Given the description of an element on the screen output the (x, y) to click on. 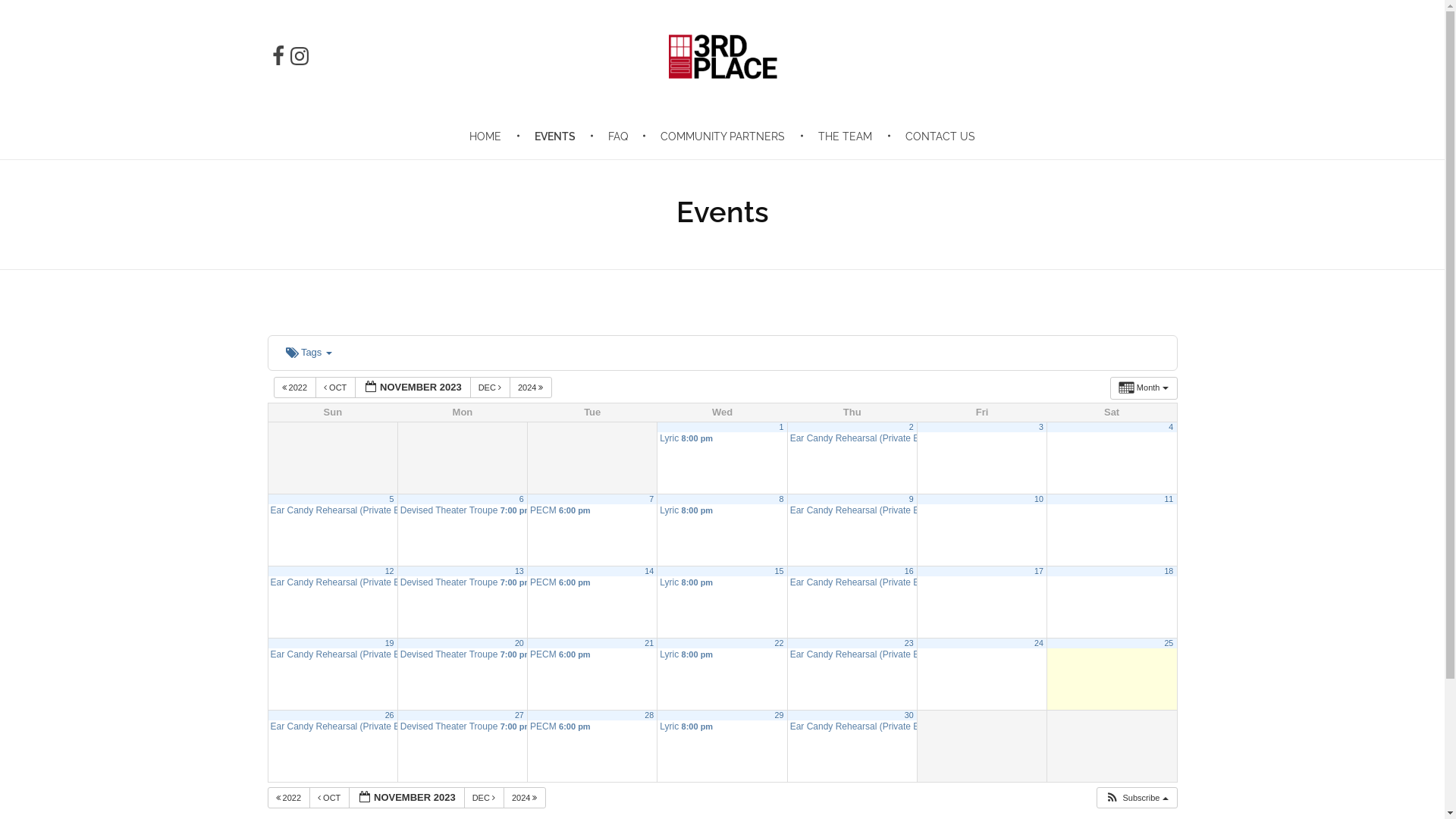
24 Element type: text (1038, 642)
PECM 6:00 pm Element type: text (591, 582)
DEC Element type: text (490, 387)
12 Element type: text (389, 570)
PECM 6:00 pm Element type: text (591, 510)
25 Element type: text (1168, 642)
Ear Candy Rehearsal (Private Event) Element type: text (332, 726)
6 Element type: text (521, 498)
Devised Theater Troupe 7:00 pm Element type: text (462, 726)
PECM 6:00 pm Element type: text (591, 726)
13 Element type: text (519, 570)
1 Element type: text (780, 426)
11 Element type: text (1168, 498)
Devised Theater Troupe 7:00 pm Element type: text (462, 582)
16 Element type: text (908, 570)
Devised Theater Troupe 7:00 pm Element type: text (462, 654)
3rd Place Element type: text (704, 112)
8 Element type: text (780, 498)
Ear Candy Rehearsal (Private Event) Element type: text (851, 726)
Lyric 8:00 pm Element type: text (721, 582)
2 Element type: text (911, 426)
Ear Candy Rehearsal (Private Event) Element type: text (332, 654)
THE TEAM Element type: text (847, 136)
10 Element type: text (1038, 498)
15 Element type: text (779, 570)
FAQ Element type: text (619, 136)
EVENTS Element type: text (556, 136)
2022 Element type: text (288, 798)
4 Element type: text (1170, 426)
29 Element type: text (779, 714)
Tags Element type: text (308, 352)
23 Element type: text (908, 642)
Ear Candy Rehearsal (Private Event) Element type: text (851, 582)
26 Element type: text (389, 714)
21 Element type: text (648, 642)
NOVEMBER 2023 Element type: text (412, 387)
30 Element type: text (908, 714)
Lyric 8:00 pm Element type: text (721, 654)
PECM 6:00 pm Element type: text (591, 654)
7 Element type: text (651, 498)
Lyric 8:00 pm Element type: text (721, 726)
27 Element type: text (519, 714)
OCT Element type: text (329, 798)
Lyric 8:00 pm Element type: text (721, 510)
Ear Candy Rehearsal (Private Event) Element type: text (332, 582)
3 Element type: text (1040, 426)
COMMUNITY PARTNERS Element type: text (725, 136)
17 Element type: text (1038, 570)
Ear Candy Rehearsal (Private Event) Element type: text (851, 654)
DEC Element type: text (484, 798)
Ear Candy Rehearsal (Private Event) Element type: text (851, 510)
18 Element type: text (1168, 570)
OCT Element type: text (335, 387)
22 Element type: text (779, 642)
Ear Candy Rehearsal (Private Event) Element type: text (851, 438)
19 Element type: text (389, 642)
2022 Element type: text (294, 387)
2024 Element type: text (524, 798)
14 Element type: text (648, 570)
Lyric 8:00 pm Element type: text (721, 438)
NOVEMBER 2023 Element type: text (406, 798)
20 Element type: text (519, 642)
Month Element type: text (1143, 387)
2024 Element type: text (530, 387)
9 Element type: text (911, 498)
5 Element type: text (391, 498)
CONTACT US Element type: text (933, 136)
28 Element type: text (648, 714)
Devised Theater Troupe 7:00 pm Element type: text (462, 510)
HOME Element type: text (494, 136)
Ear Candy Rehearsal (Private Event) Element type: text (332, 510)
